Given the description of an element on the screen output the (x, y) to click on. 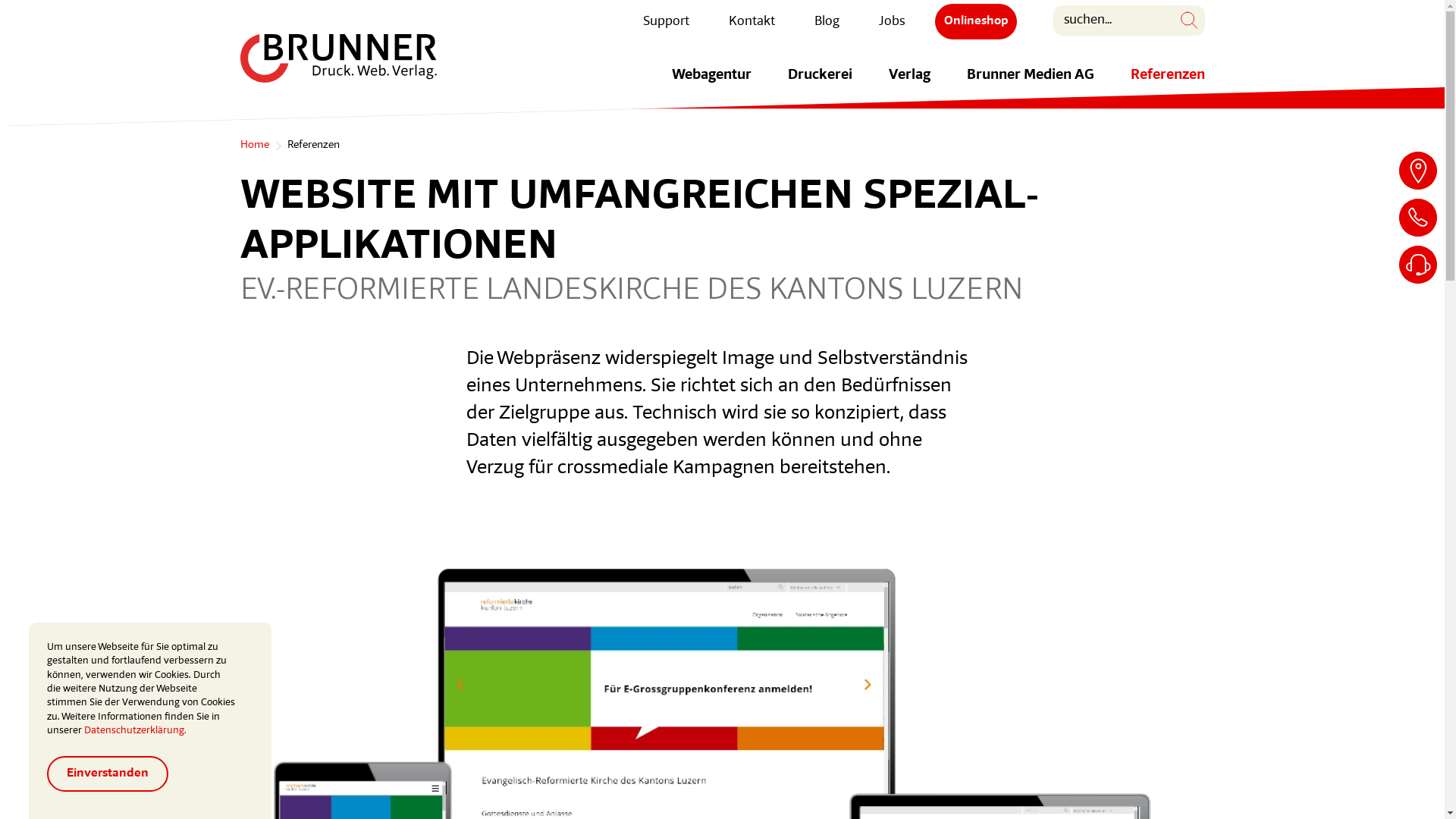
Brunner Medien AG Element type: text (1029, 84)
Referenzen Element type: text (1166, 84)
Webagentur Element type: text (711, 84)
Onlineshop Element type: text (975, 21)
Home Element type: text (253, 145)
Home Element type: hover (337, 58)
Verlag Element type: text (909, 84)
TEL. 041 318 34 34 Element type: text (1418, 217)
ANFAHRT Element type: text (1418, 170)
SUPPORT Element type: text (1418, 264)
Druckerei Element type: text (819, 84)
